Given the description of an element on the screen output the (x, y) to click on. 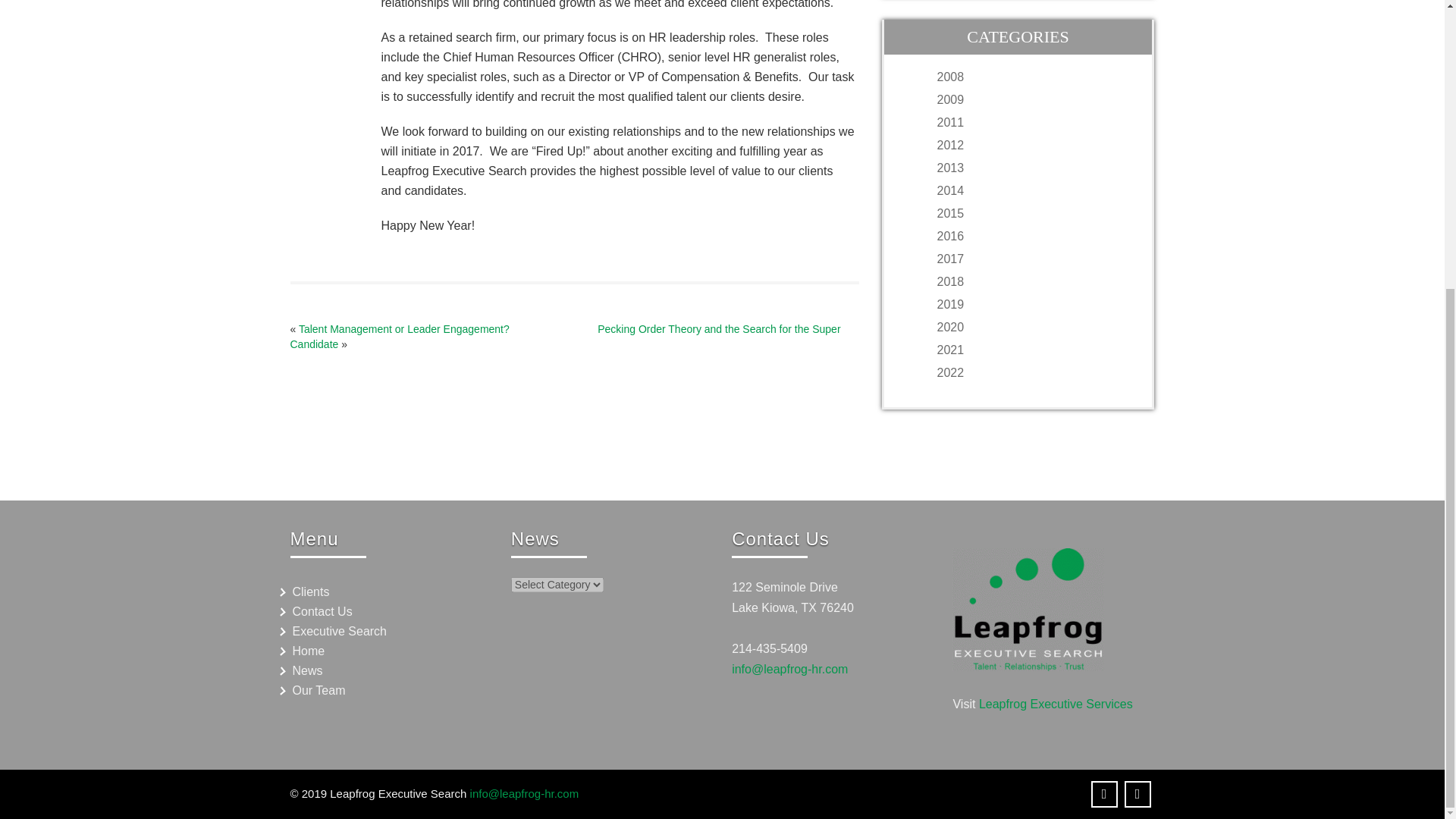
2015 (1033, 213)
2018 (1033, 281)
2017 (1033, 258)
2014 (1033, 191)
2022 (1033, 372)
2021 (1033, 350)
Contact Us (385, 611)
Facebook (1104, 794)
2020 (1033, 327)
2008 (1033, 77)
